Given the description of an element on the screen output the (x, y) to click on. 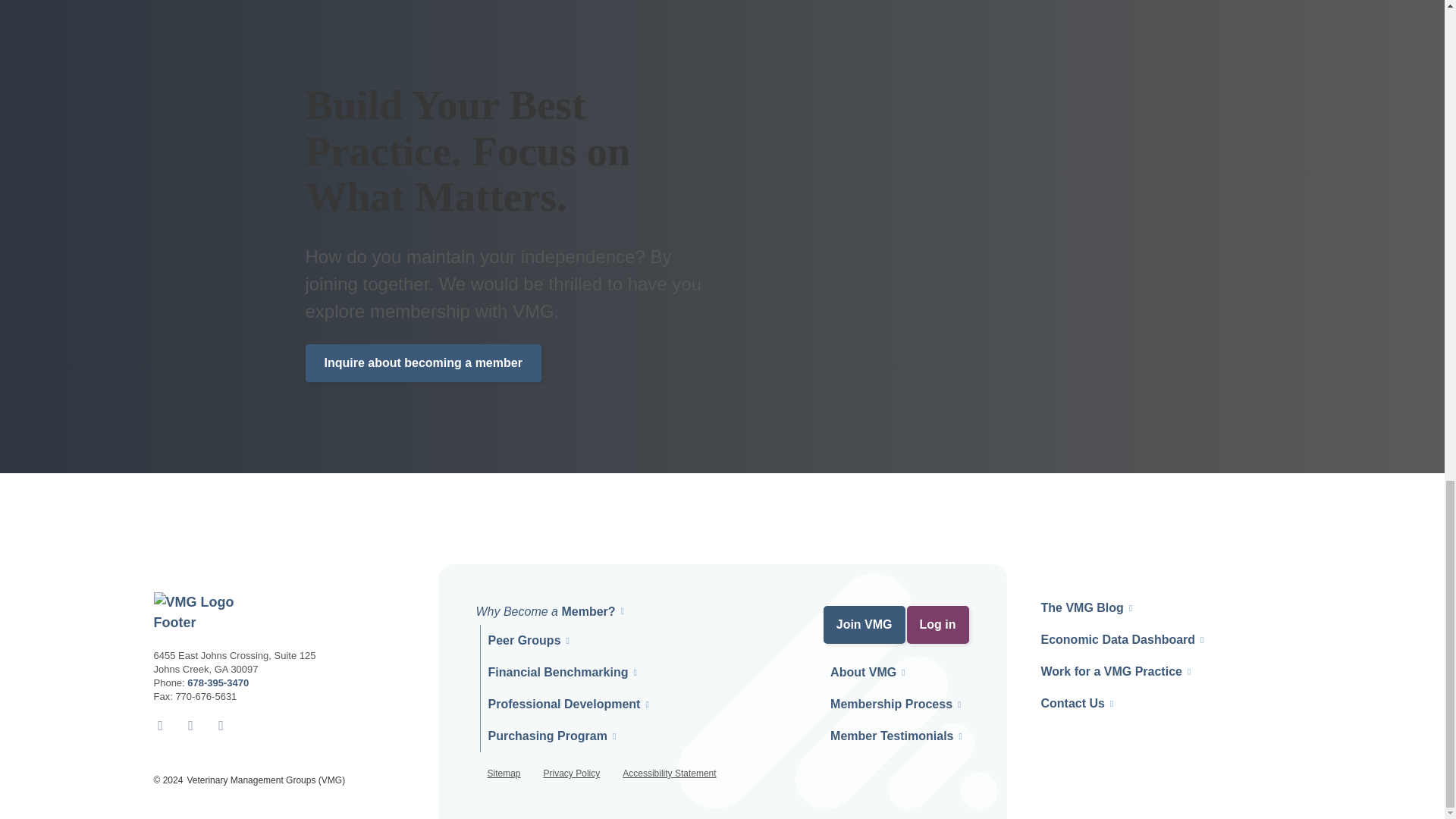
Why Become a Member? (545, 610)
Inquire about becoming a member (422, 362)
678-395-3470 (217, 682)
Peer Groups (523, 640)
Financial Benchmarking (557, 672)
